Given the description of an element on the screen output the (x, y) to click on. 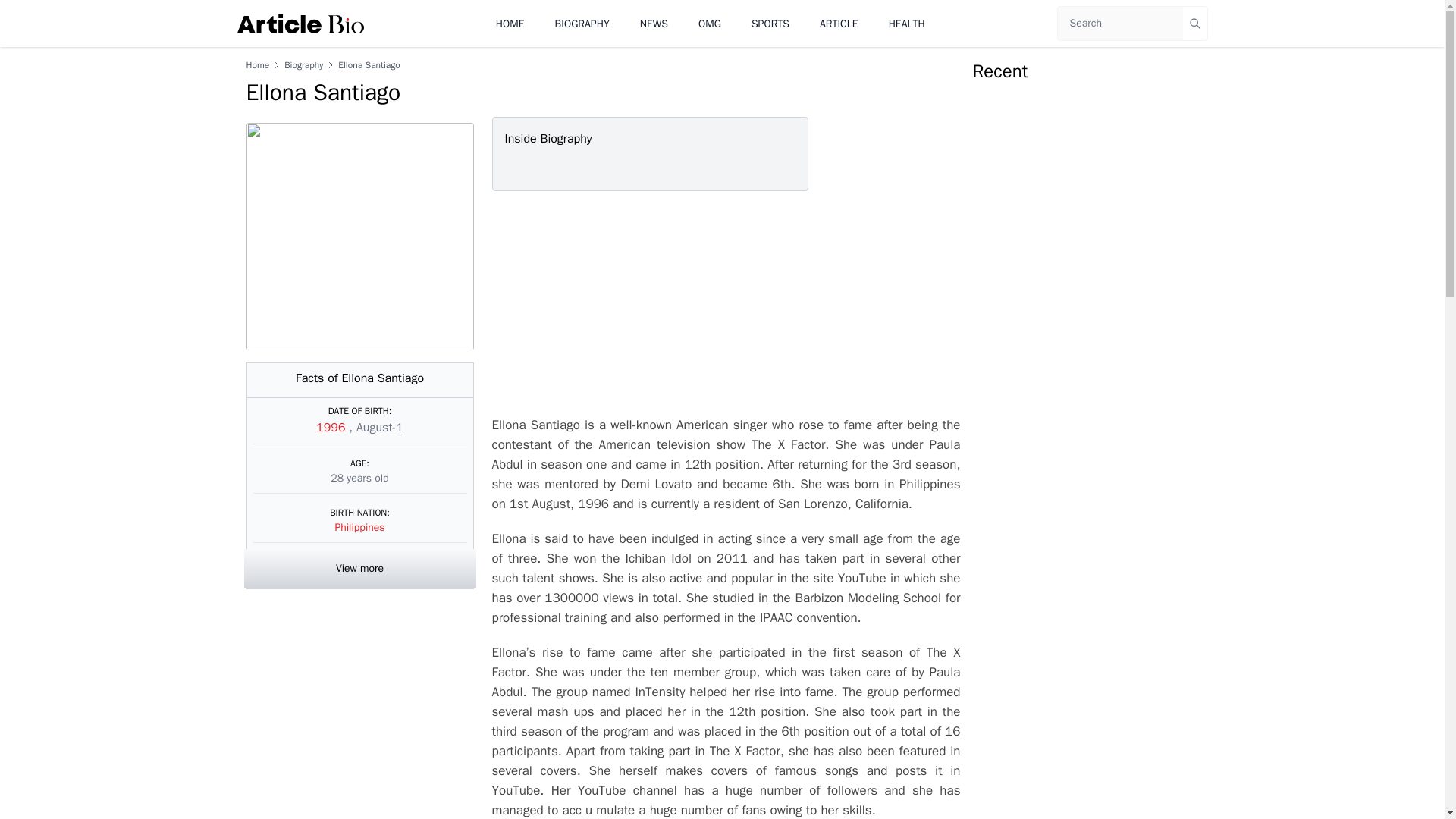
SPORTS (770, 23)
NEWS (654, 23)
Philippines (359, 526)
HEALTH (906, 23)
Advertisement (721, 303)
Home (257, 64)
OMG (709, 23)
ARTICLE (839, 23)
1996 (332, 427)
Biography (303, 64)
